Given the description of an element on the screen output the (x, y) to click on. 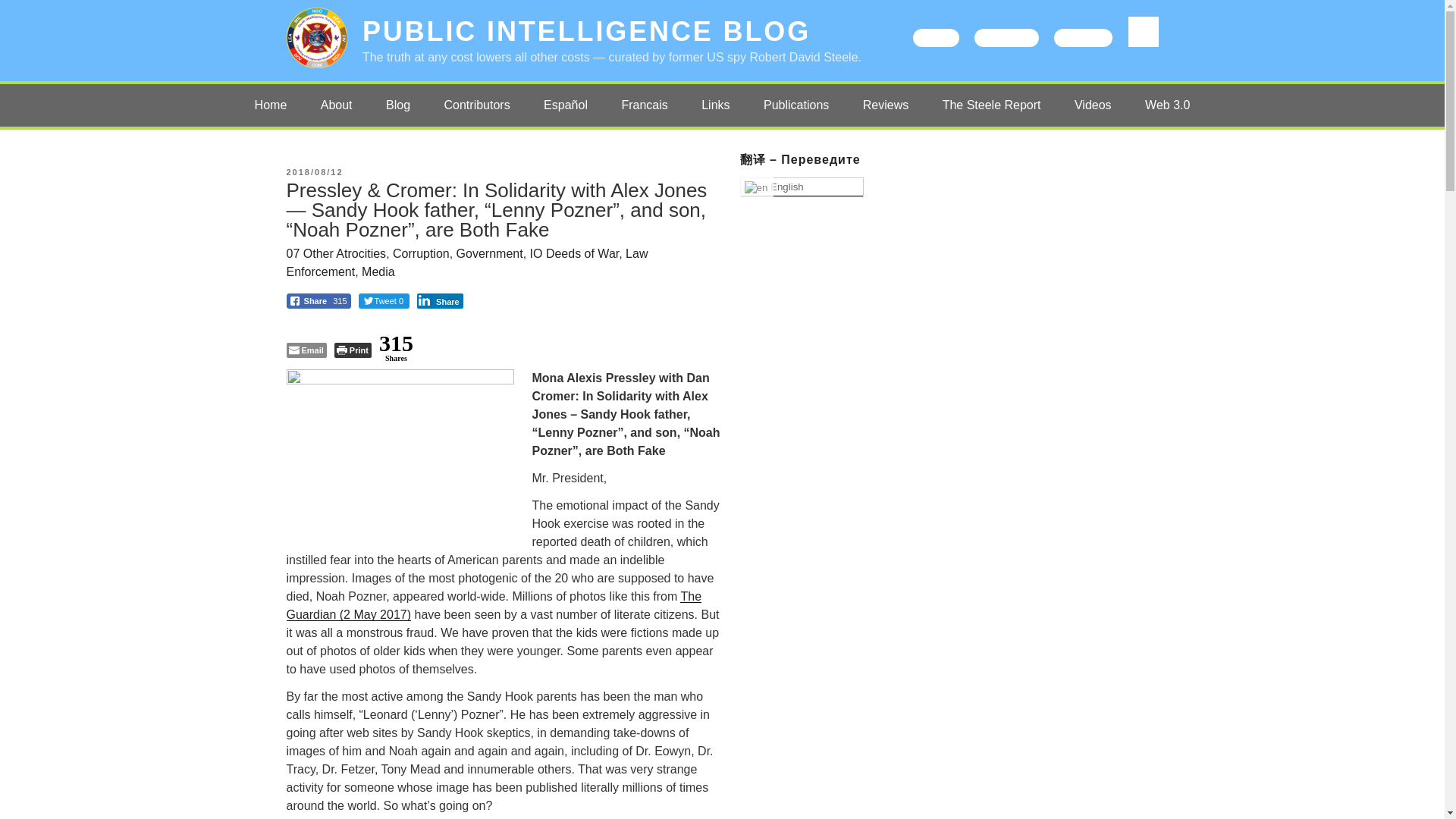
Print (352, 350)
Contributors (477, 105)
YouTube (1083, 37)
Facebook (1006, 37)
07 Other Atrocities (336, 253)
Twitter (935, 37)
Government (489, 253)
Share (439, 300)
Reviews (885, 105)
